Given the description of an element on the screen output the (x, y) to click on. 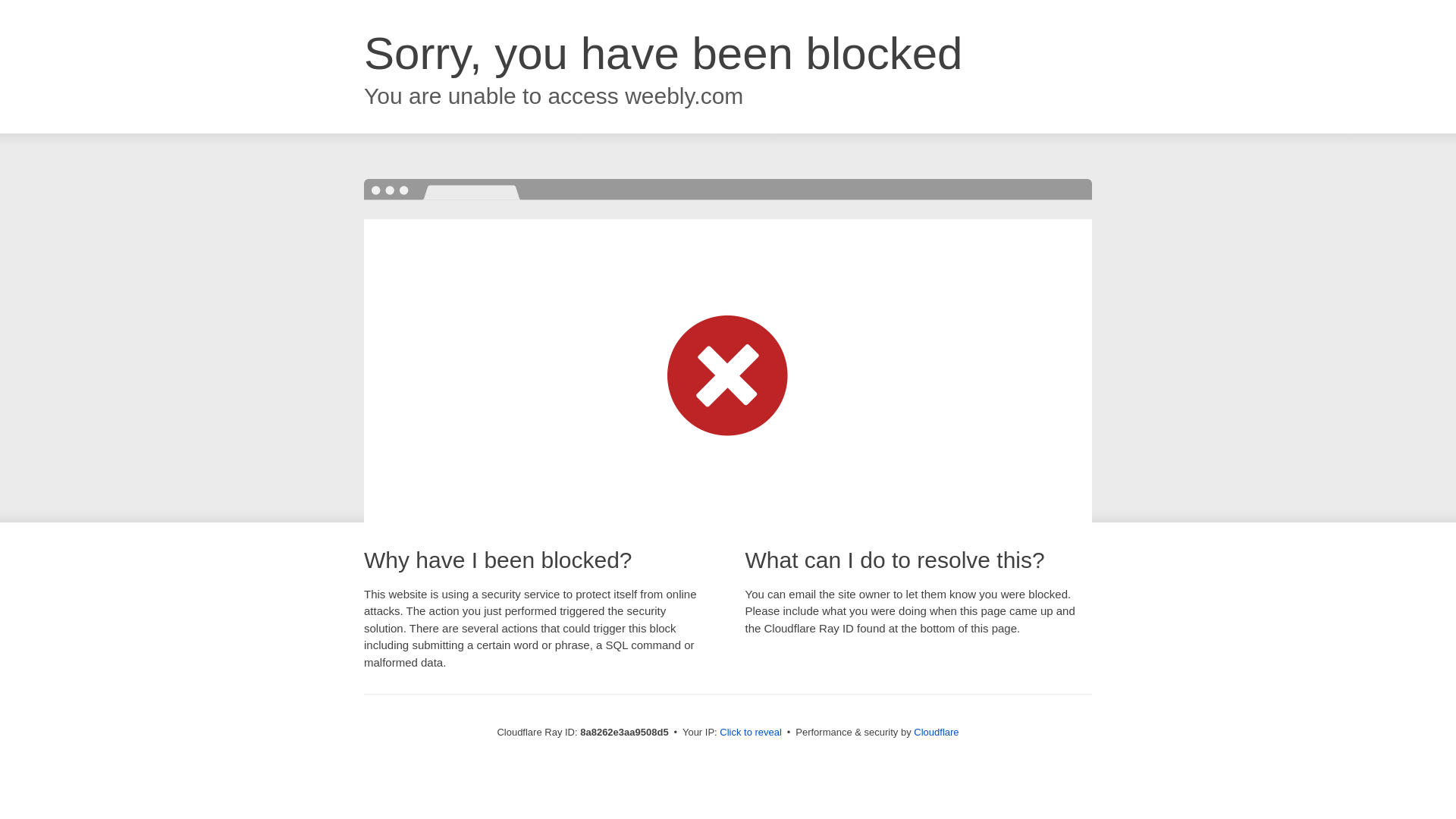
Click to reveal (750, 732)
Cloudflare (936, 731)
